Given the description of an element on the screen output the (x, y) to click on. 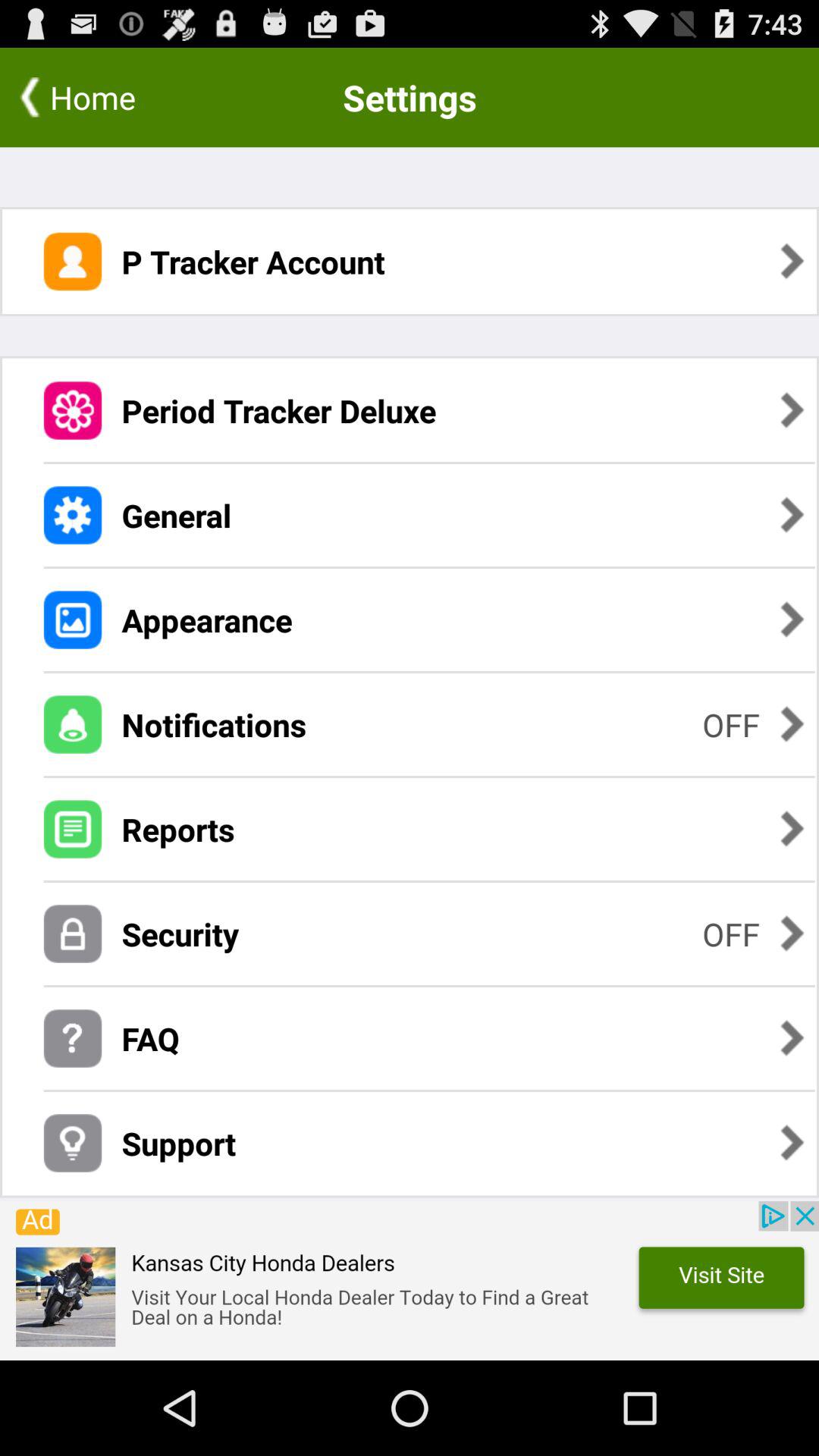
visit the honda site (409, 1280)
